Given the description of an element on the screen output the (x, y) to click on. 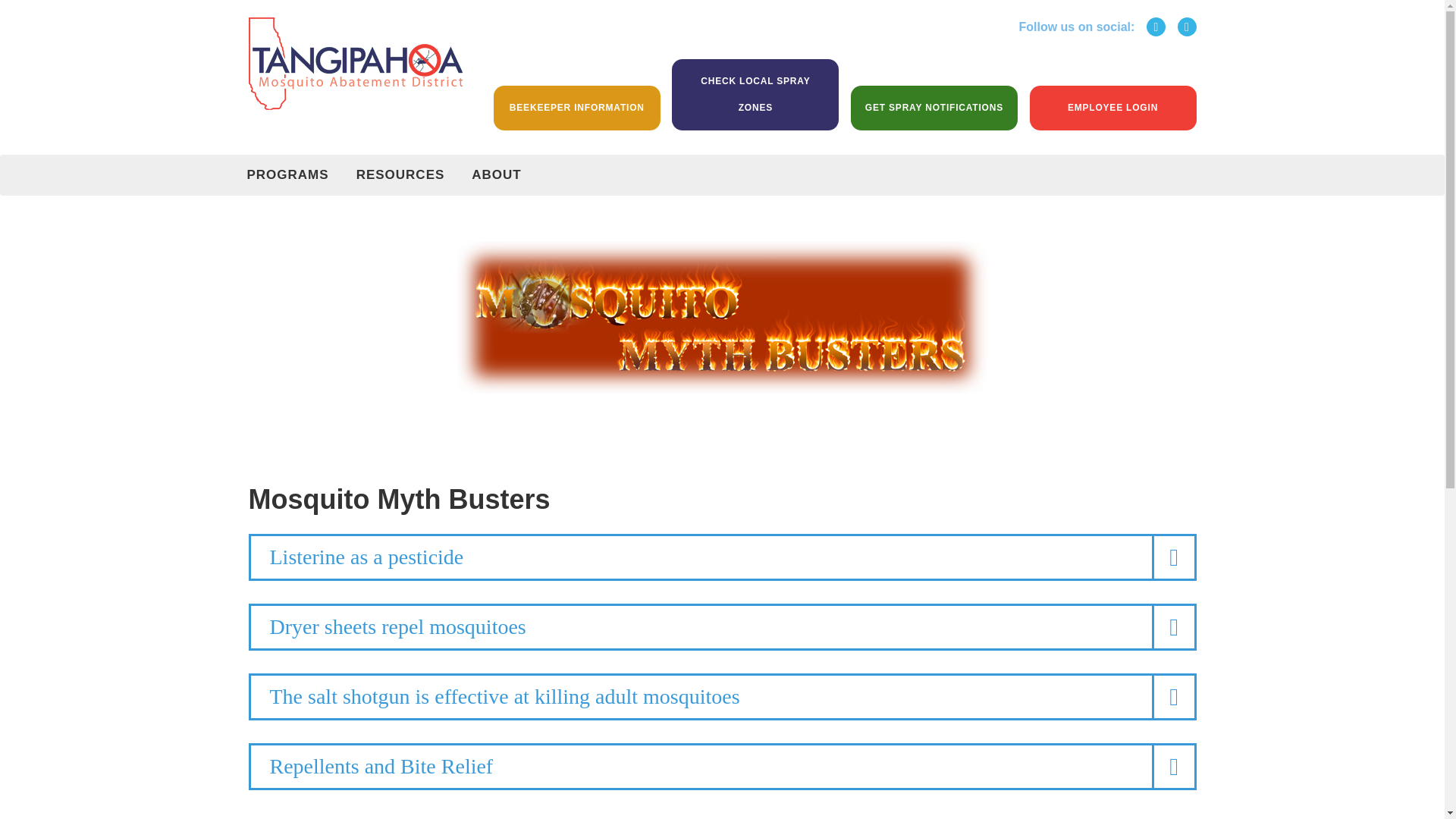
EMPLOYEE LOGIN (1112, 107)
PROGRAMS (287, 174)
RESOURCES (400, 174)
GET SPRAY NOTIFICATIONS (933, 107)
CHECK LOCAL SPRAY ZONES (754, 94)
Tangipahoa Mosquito Abatement District (355, 62)
BEEKEEPER INFORMATION (577, 107)
ABOUT (496, 174)
